Given the description of an element on the screen output the (x, y) to click on. 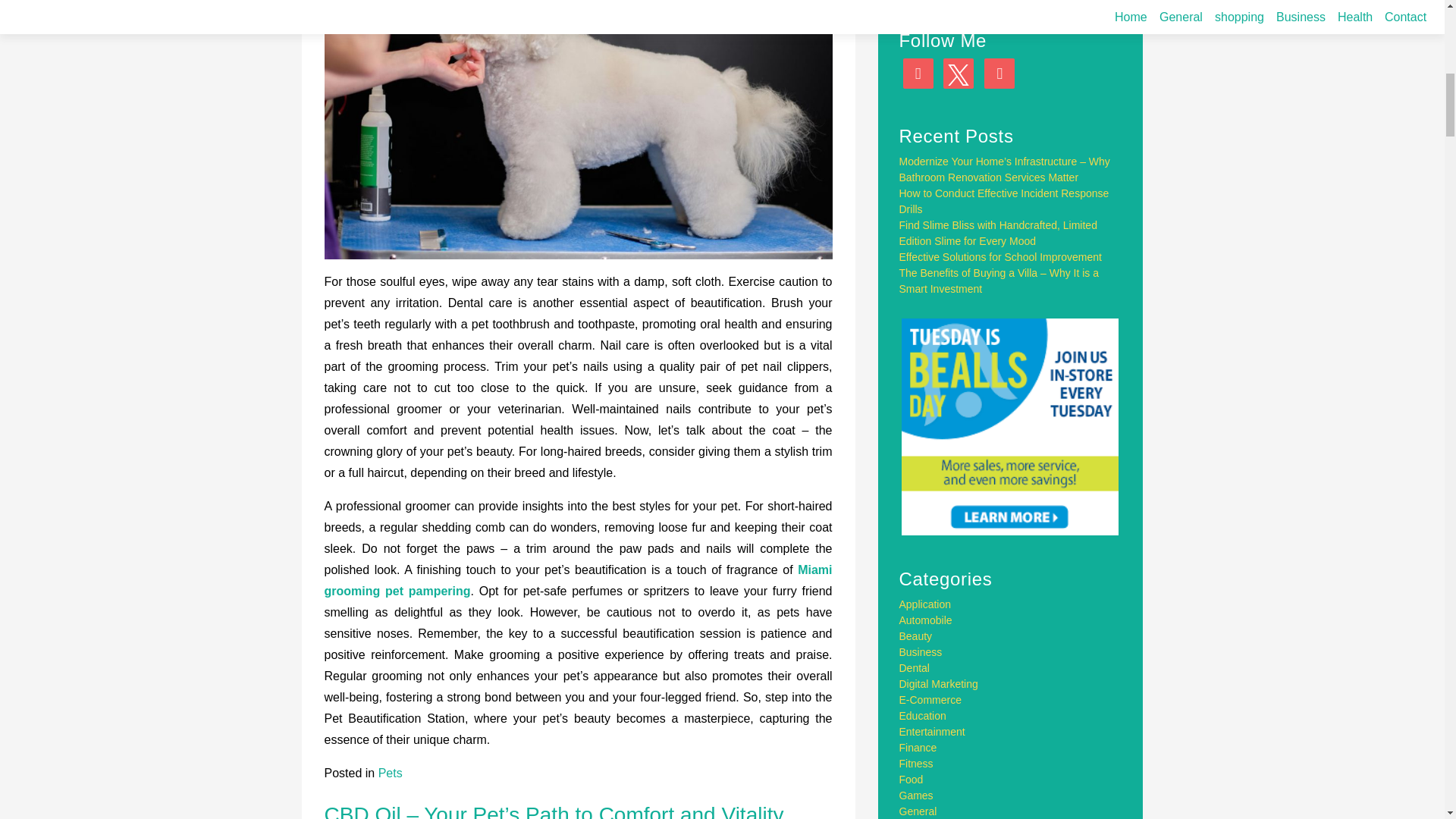
Reddit (999, 72)
Twitter (958, 72)
Instagram (917, 72)
Pets (390, 772)
Miami grooming pet pampering (578, 580)
